Given the description of an element on the screen output the (x, y) to click on. 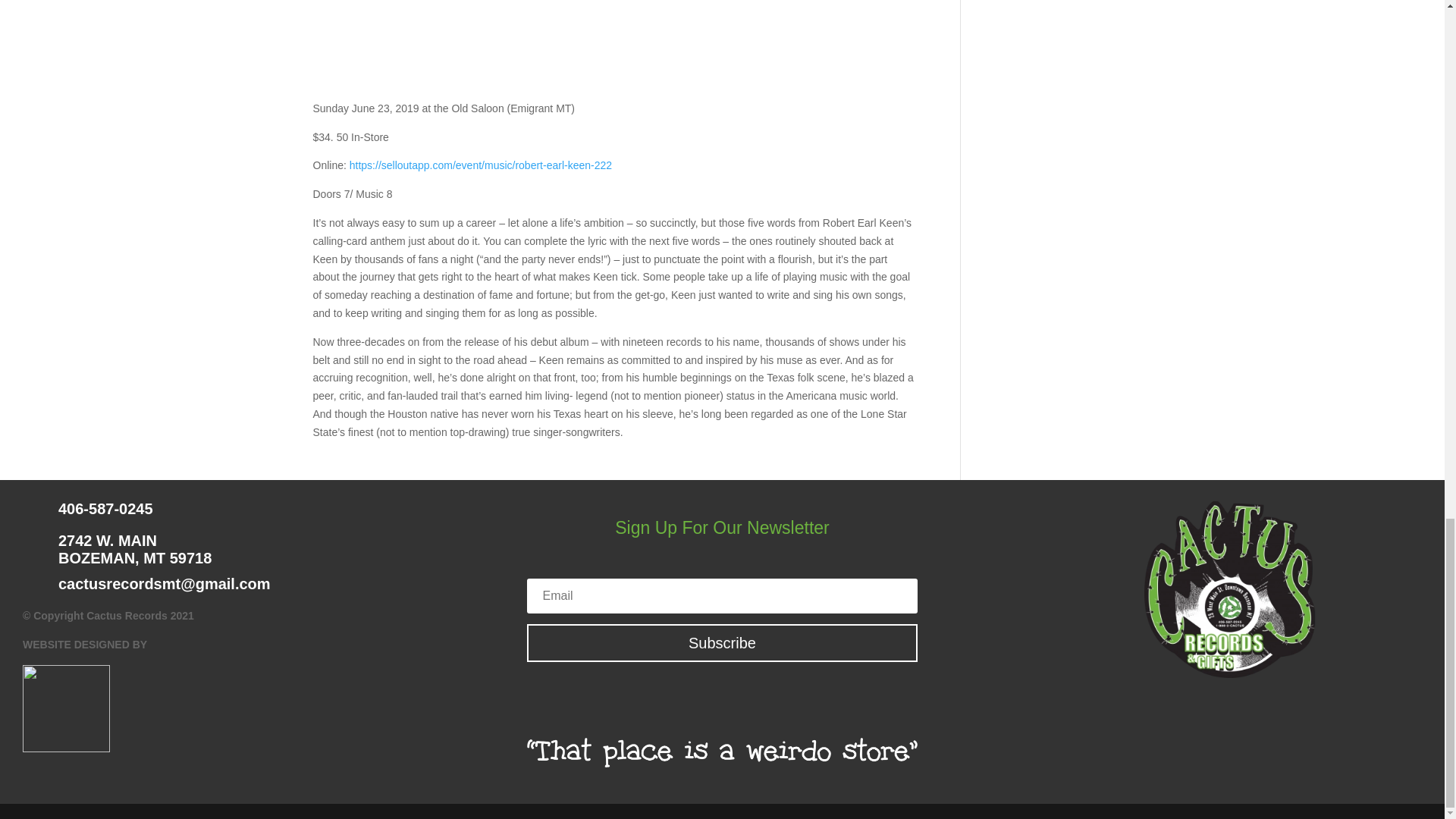
Subscribe (722, 642)
2742 W. MAIN (107, 540)
BOZEMAN, MT 59718 (134, 557)
